Given the description of an element on the screen output the (x, y) to click on. 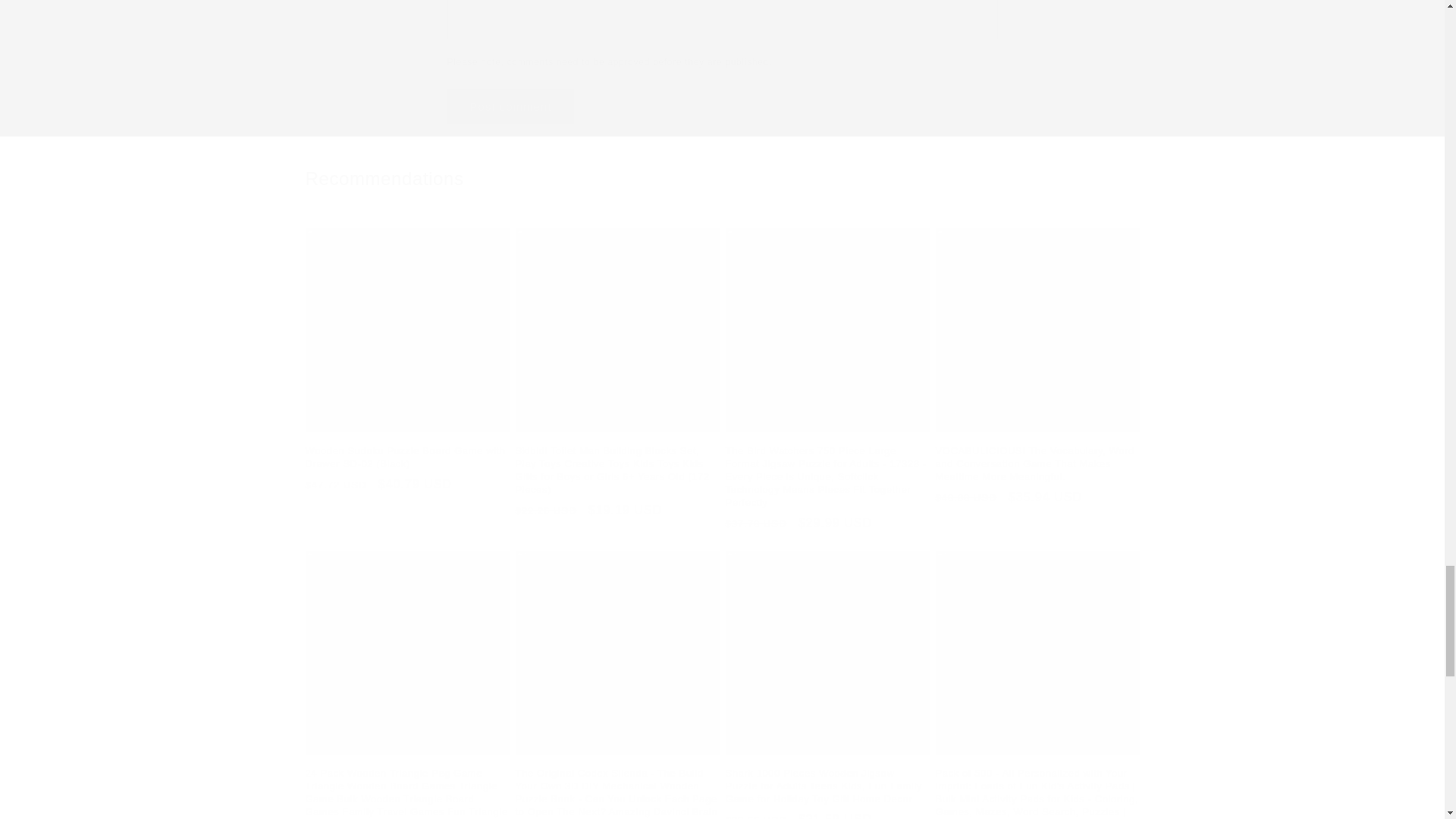
Recommendations (721, 178)
Post comment (510, 106)
Post comment (510, 106)
